Given the description of an element on the screen output the (x, y) to click on. 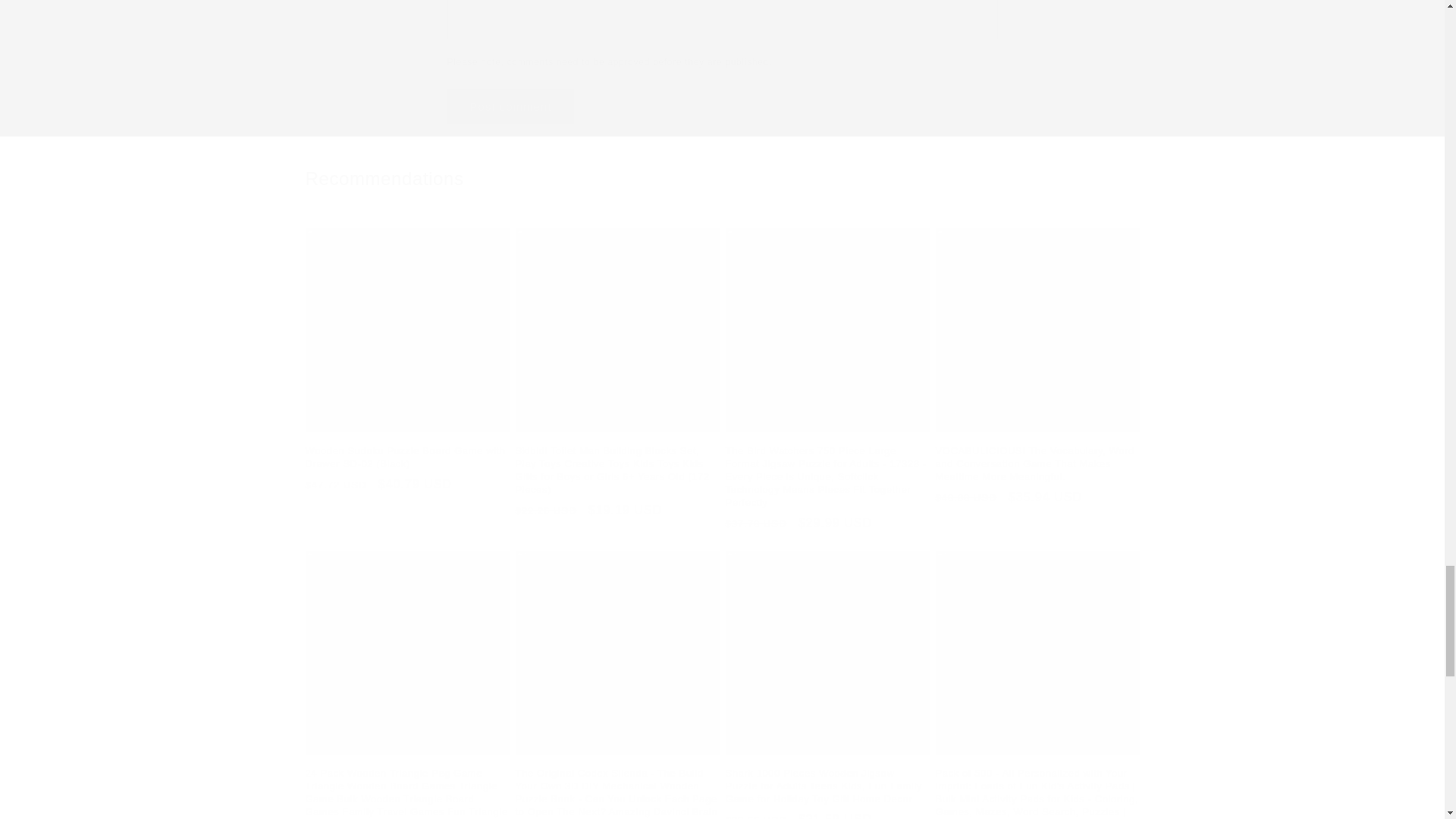
Recommendations (721, 178)
Post comment (510, 106)
Post comment (510, 106)
